Given the description of an element on the screen output the (x, y) to click on. 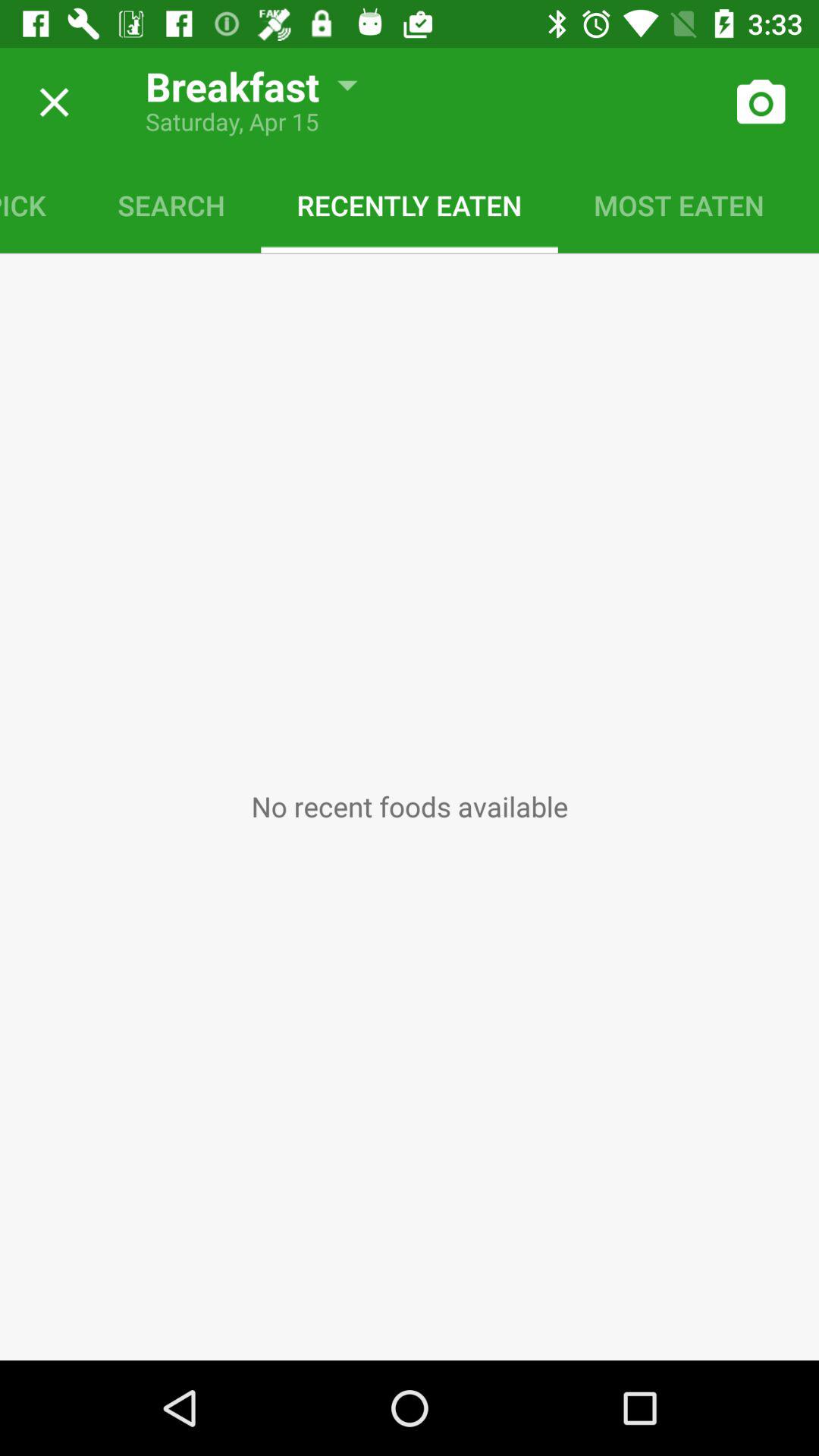
press the icon to the right of most eaten (809, 205)
